Given the description of an element on the screen output the (x, y) to click on. 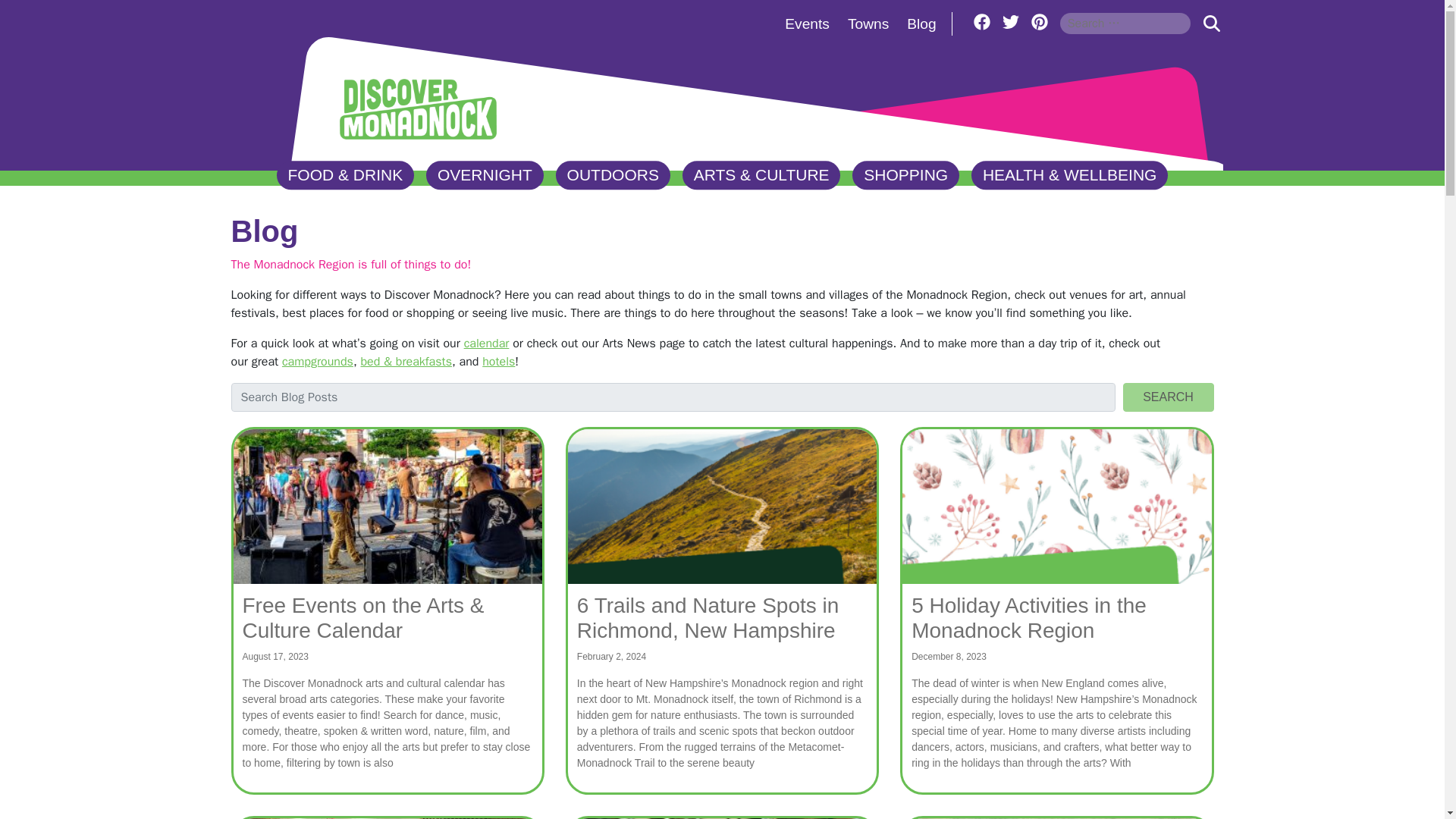
SEARCH (1211, 23)
campgrounds (317, 361)
Discover Monadnock Pinterest Page (1039, 20)
Events (806, 23)
hotels (498, 361)
Discover Monadnock (417, 105)
Search for: (1125, 23)
OVERNIGHT (485, 174)
calendar (486, 343)
Discover Monadnock Facebook Page (982, 20)
SHOPPING (905, 174)
Blog (921, 23)
Discover Monadnock Twitter Page (1011, 20)
OUTDOORS (613, 174)
